Given the description of an element on the screen output the (x, y) to click on. 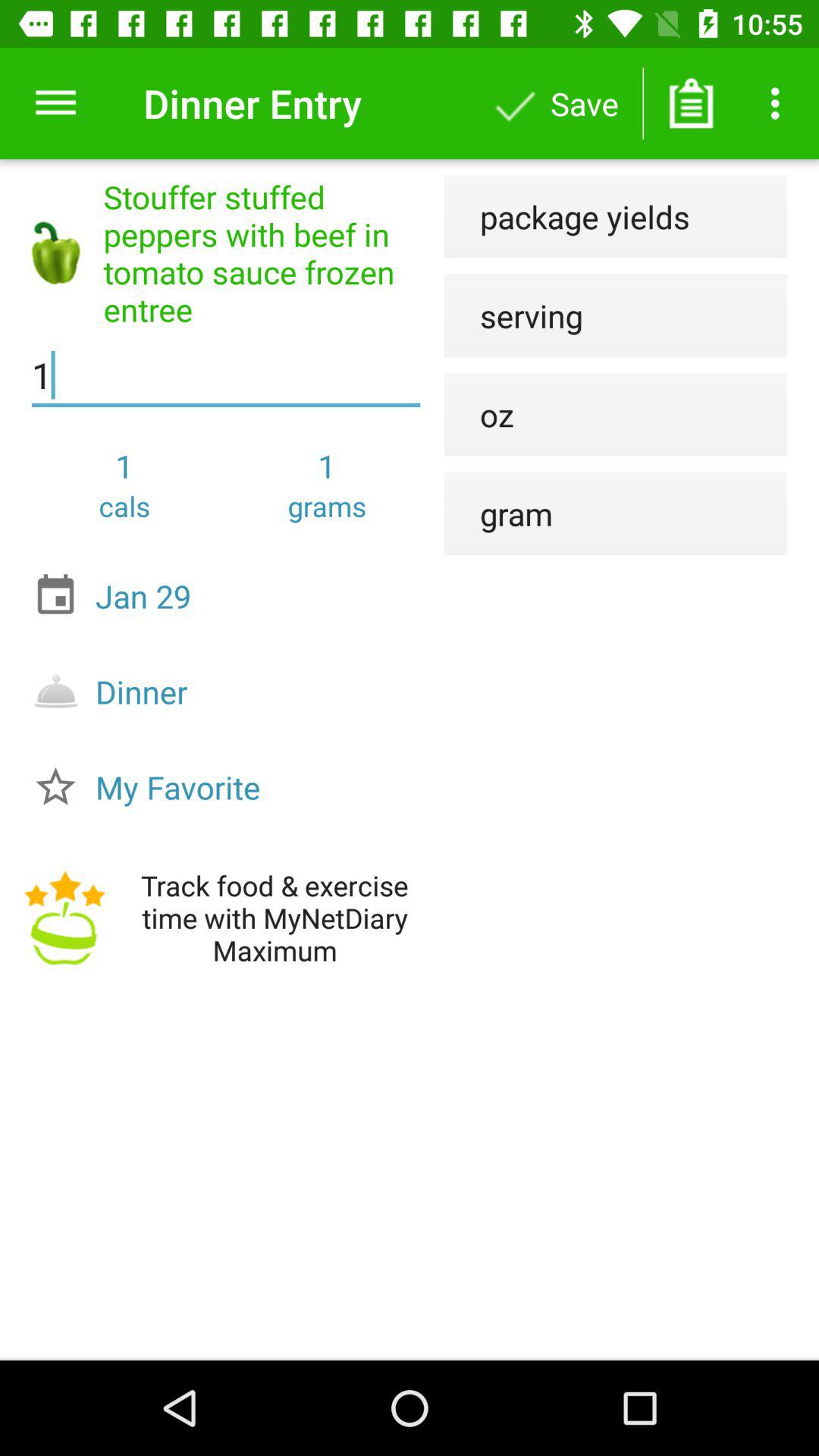
select the item above the track food exercise icon (229, 786)
